Given the description of an element on the screen output the (x, y) to click on. 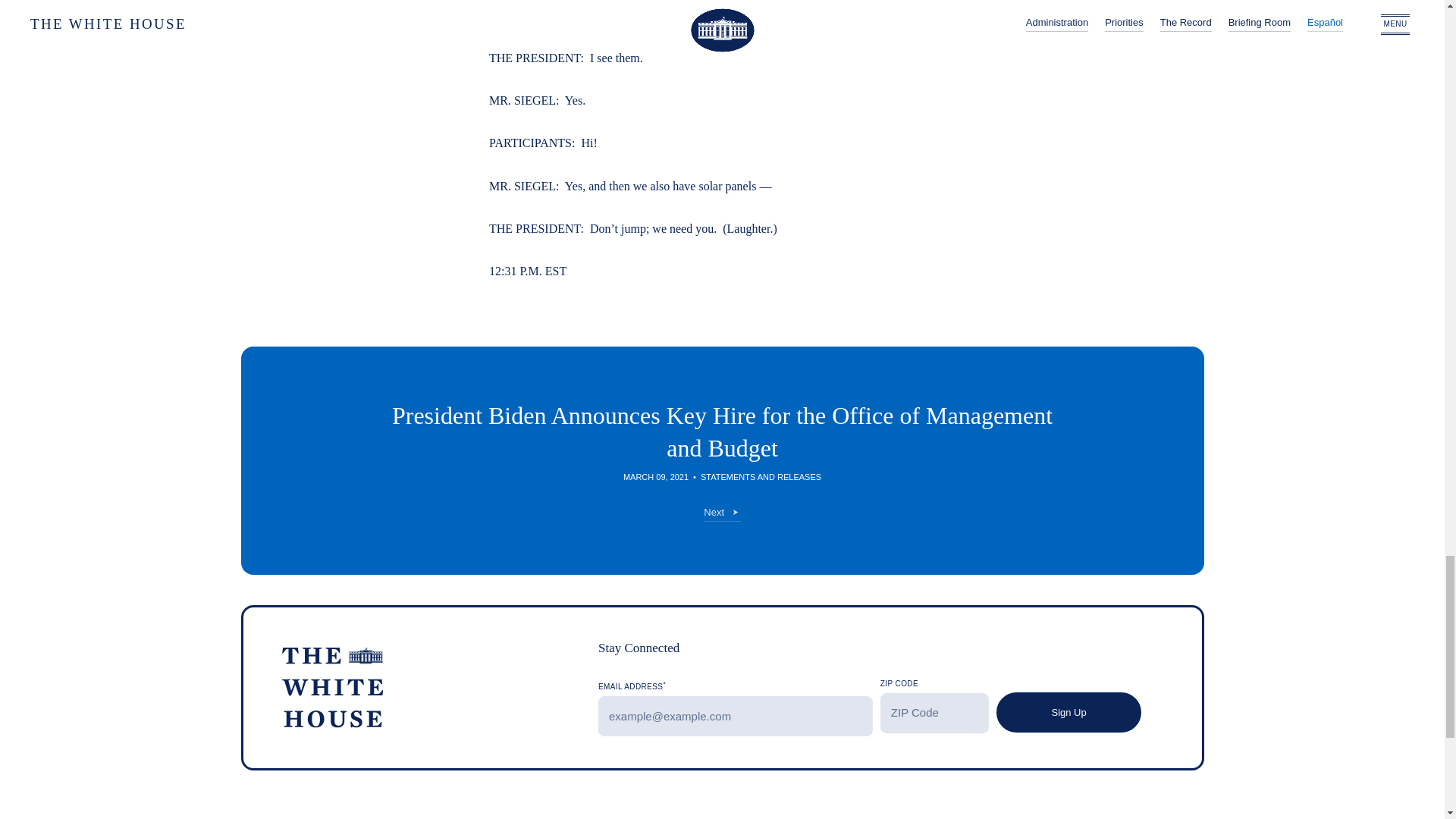
Sign Up (1068, 712)
